Given the description of an element on the screen output the (x, y) to click on. 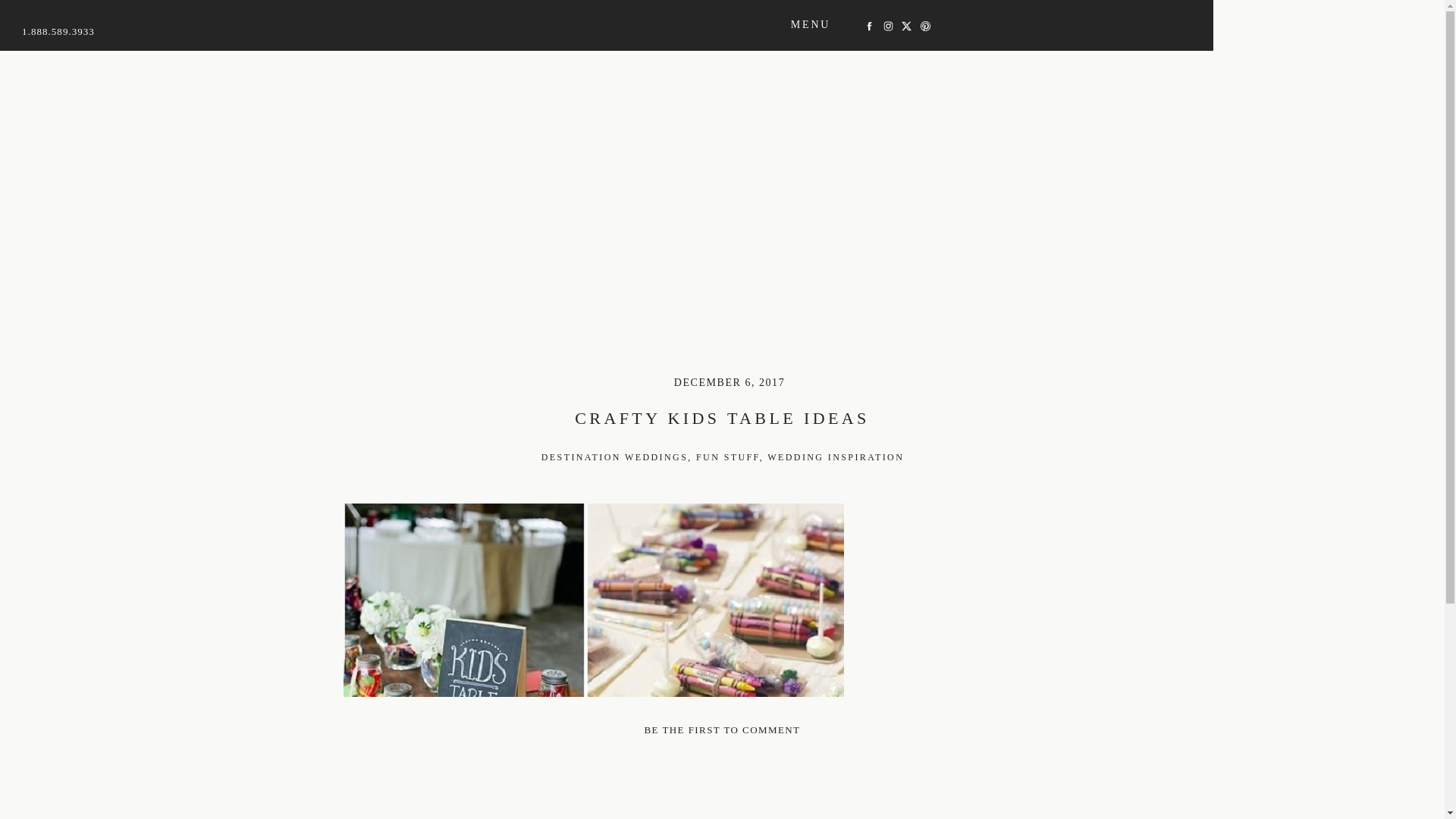
MENU (810, 25)
1.888.589.3933 (58, 32)
FUN STUFF (727, 457)
DESTINATION WEDDINGS (614, 457)
WEDDING INSPIRATION (835, 457)
